Given the description of an element on the screen output the (x, y) to click on. 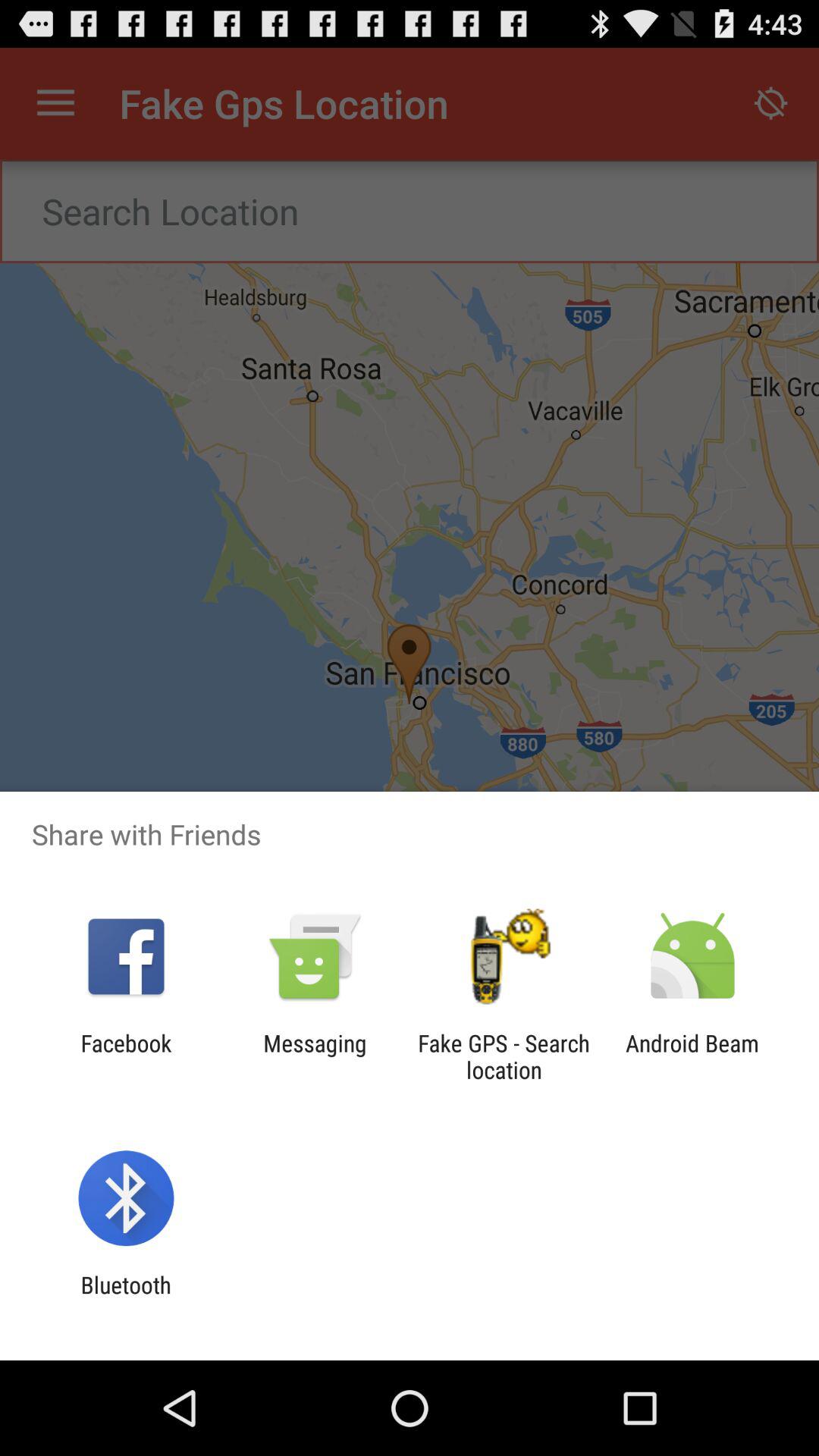
choose bluetooth app (125, 1298)
